Given the description of an element on the screen output the (x, y) to click on. 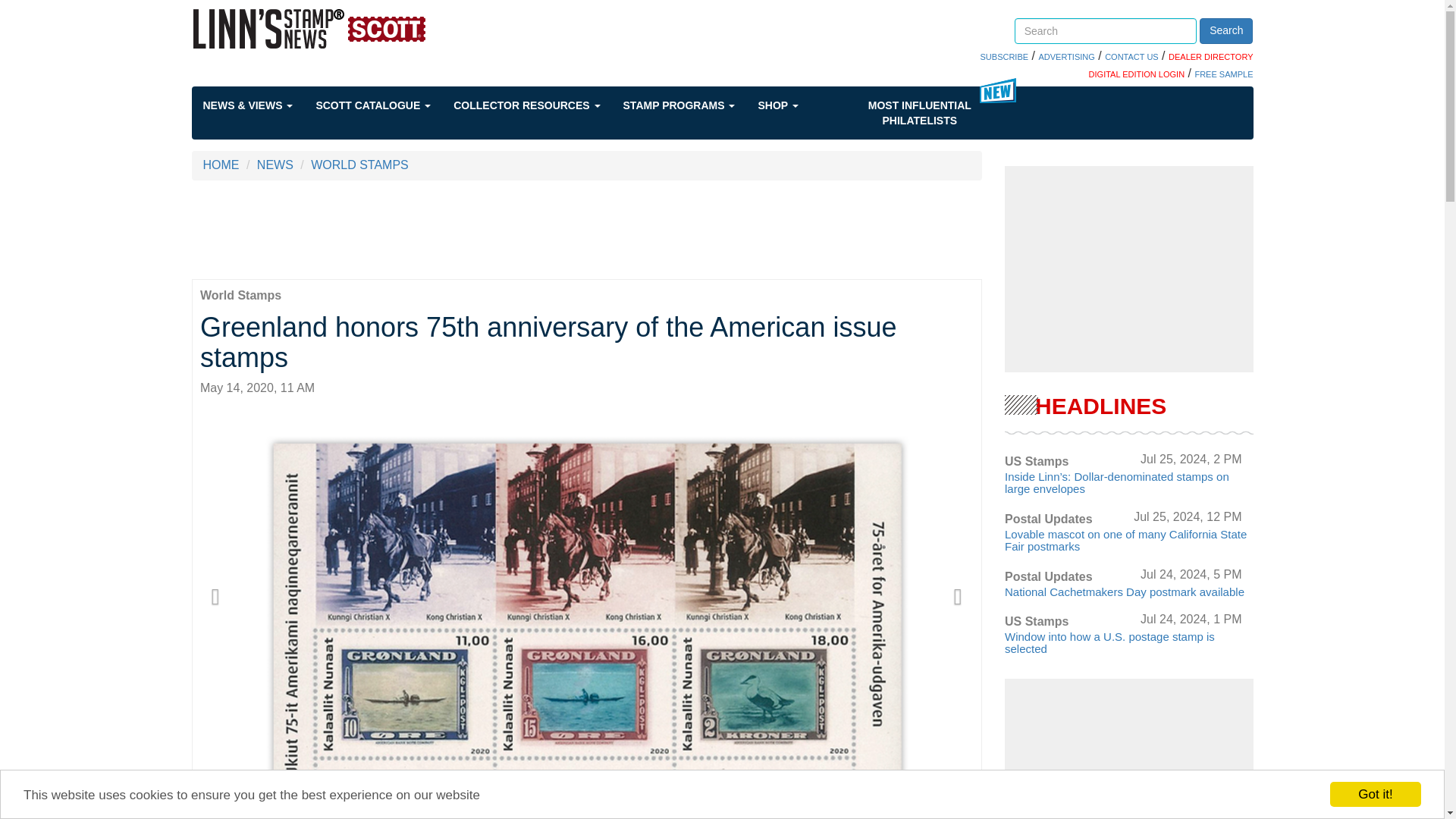
COLLECTOR RESOURCES (537, 105)
3rd party ad content (587, 229)
DEALER DIRECTORY (1210, 56)
CONTACT US (1131, 56)
Linn's Stamp News (352, 28)
Search input (1105, 31)
3rd party ad content (1128, 753)
Search (1225, 31)
SUBSCRIBE (1004, 56)
SCOTT CATALOGUE (383, 105)
DIGITAL EDITION LOGIN (1137, 73)
FREE SAMPLE (1222, 73)
3rd party ad content (1128, 268)
ADVERTISING (1066, 56)
